Given the description of an element on the screen output the (x, y) to click on. 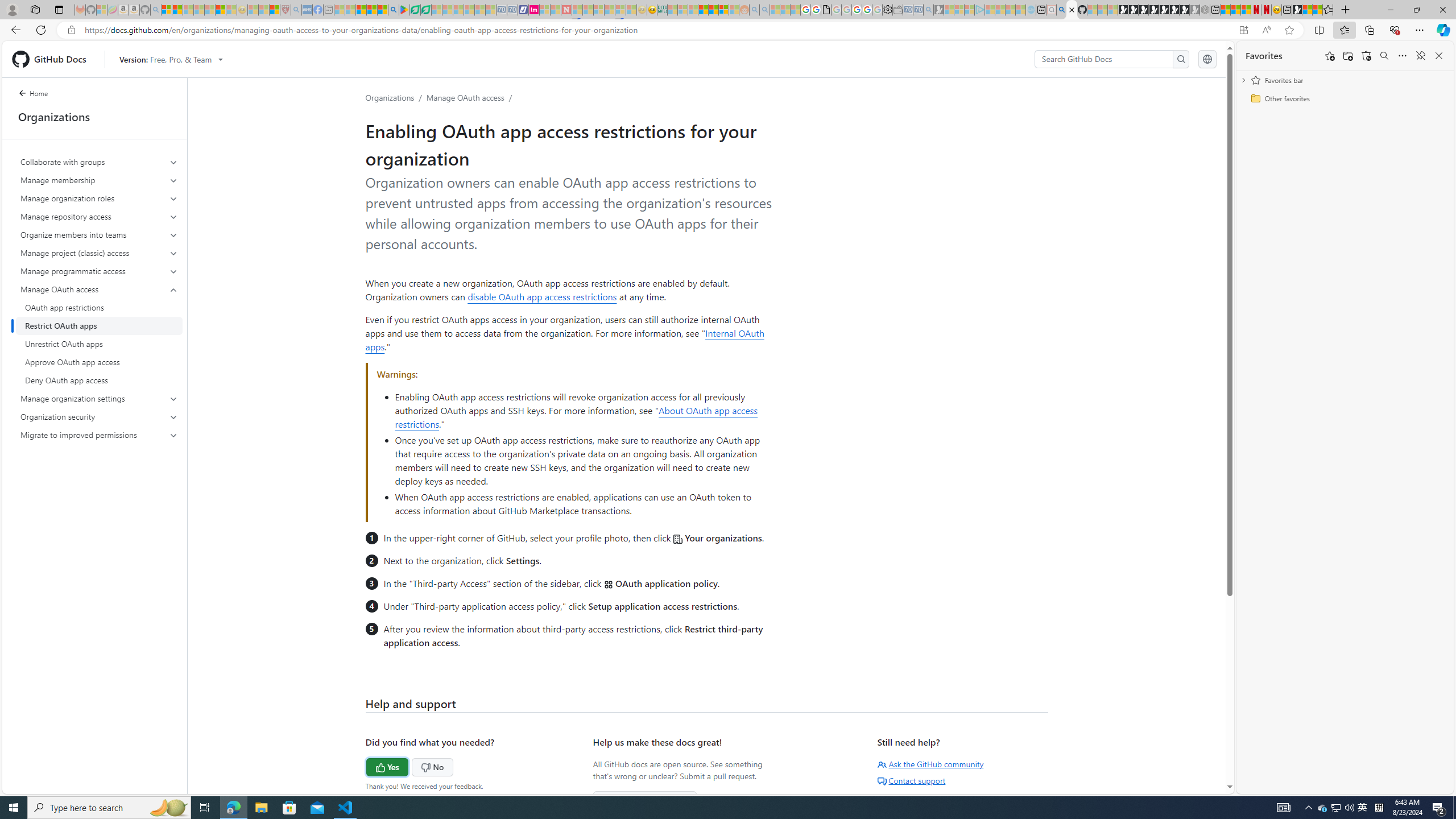
Scroll to top (1200, 768)
Pets - MSN (371, 9)
Settings (886, 9)
Make a contribution (644, 800)
More options (1402, 55)
Cheap Car Rentals - Save70.com - Sleeping (918, 9)
Manage membership (99, 180)
No (410, 765)
OAuth app restrictions (99, 307)
